Given the description of an element on the screen output the (x, y) to click on. 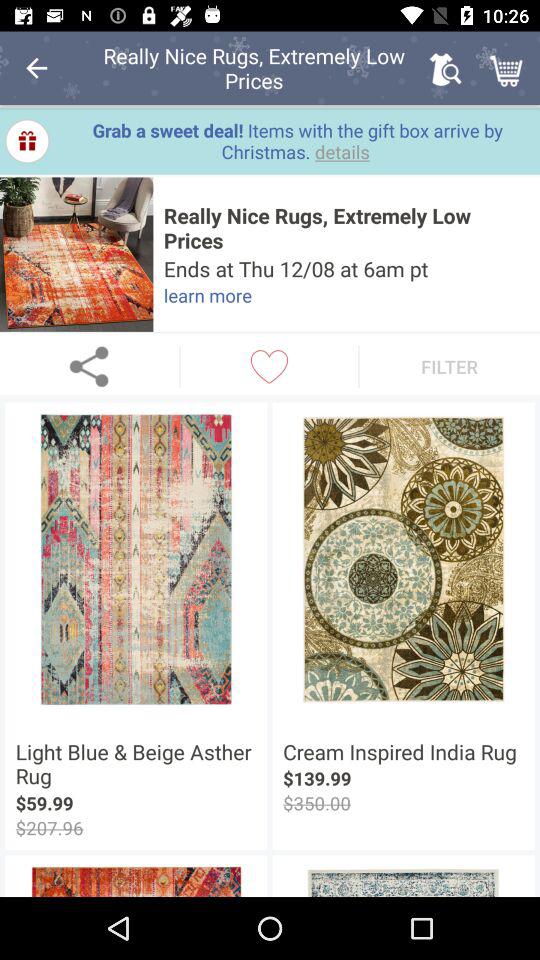
share the product (89, 366)
